Given the description of an element on the screen output the (x, y) to click on. 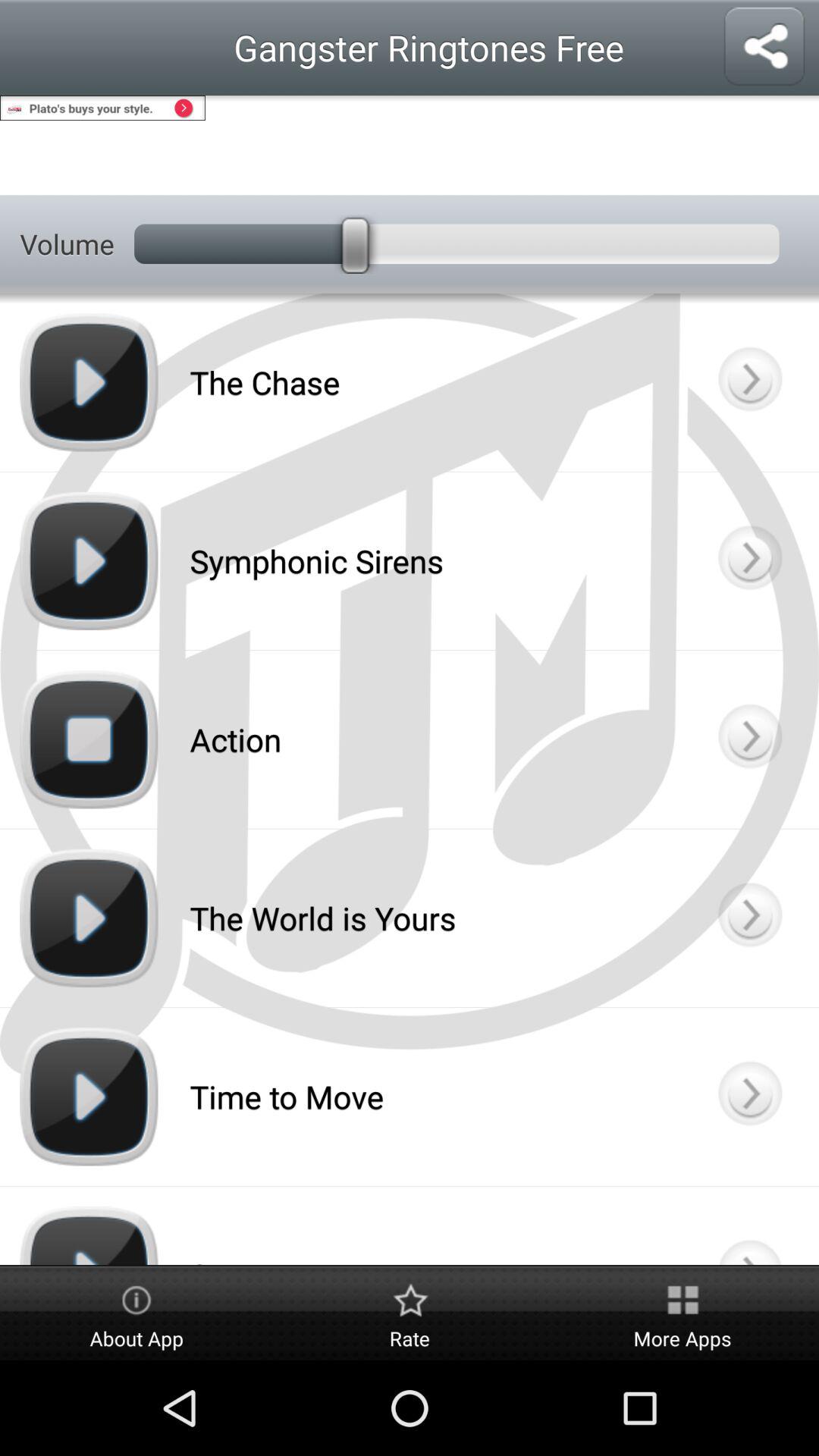
show ringtone detail (749, 918)
